Given the description of an element on the screen output the (x, y) to click on. 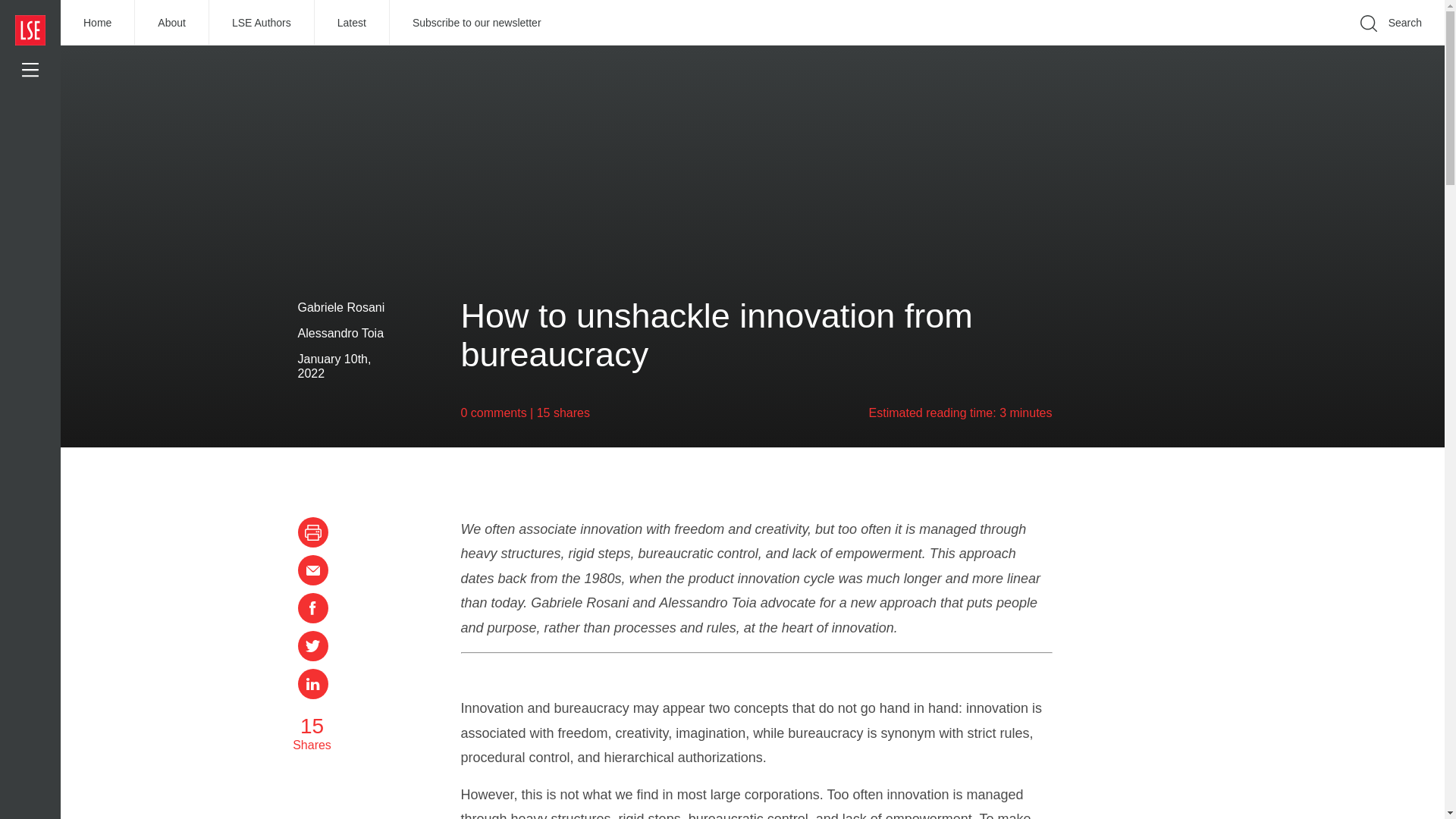
Latest (352, 22)
Home (98, 22)
Subscribe to our newsletter (477, 22)
About (172, 22)
LSE Authors (261, 22)
0 comments (494, 412)
Go (1190, 44)
